Given the description of an element on the screen output the (x, y) to click on. 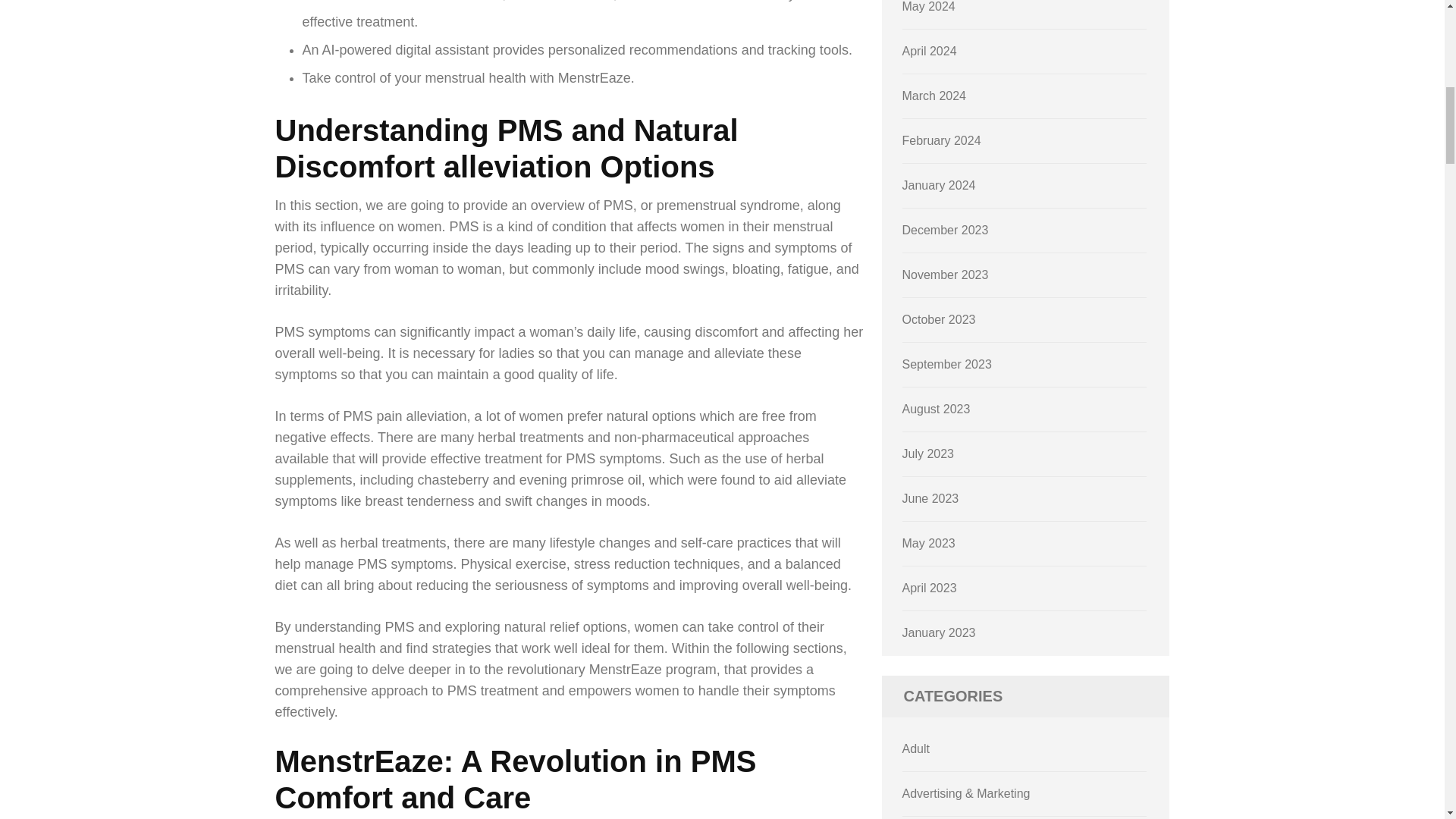
March 2024 (934, 95)
February 2024 (941, 140)
May 2024 (928, 6)
October 2023 (938, 318)
July 2023 (928, 453)
April 2023 (929, 587)
November 2023 (945, 274)
April 2024 (929, 51)
May 2023 (928, 543)
January 2024 (938, 185)
